Given the description of an element on the screen output the (x, y) to click on. 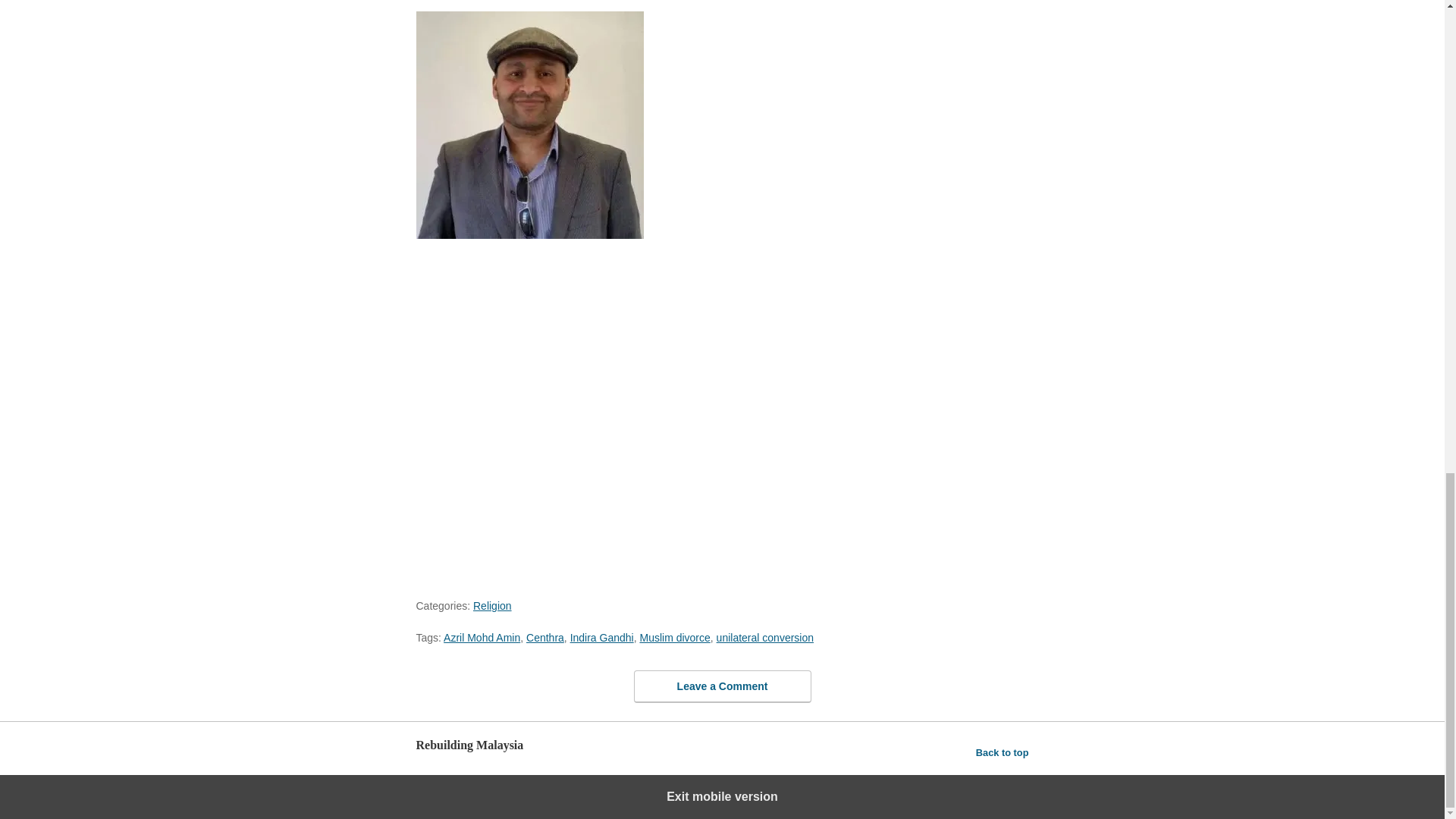
unilateral conversion (764, 637)
Leave a Comment (721, 686)
Centhra (544, 637)
Muslim divorce (674, 637)
Religion (492, 605)
Azril Mohd Amin (481, 637)
Indira Gandhi (601, 637)
Back to top (1002, 752)
